Given the description of an element on the screen output the (x, y) to click on. 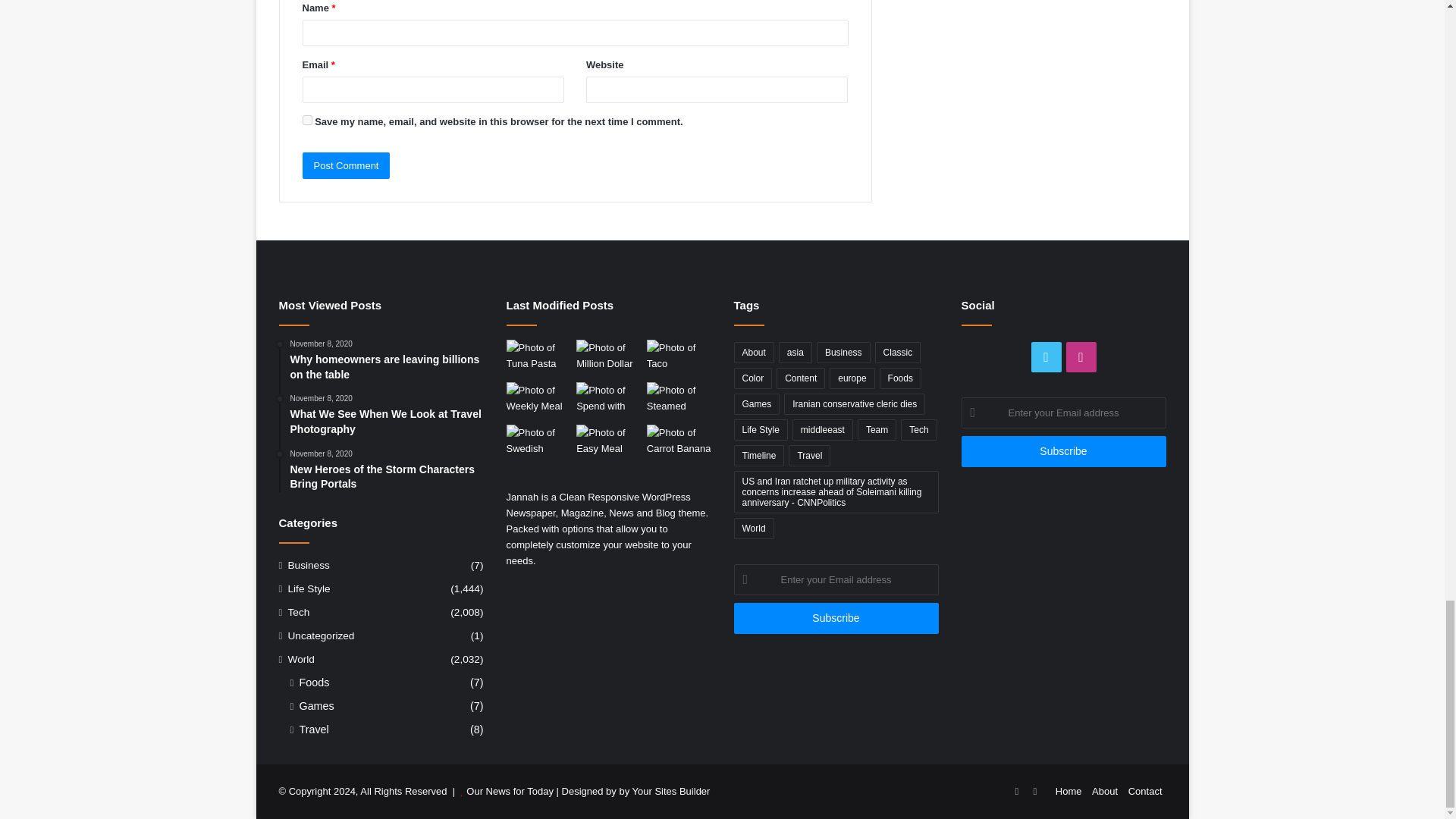
Post Comment (345, 165)
Subscribe (836, 617)
yes (306, 120)
Subscribe (1063, 450)
